Given the description of an element on the screen output the (x, y) to click on. 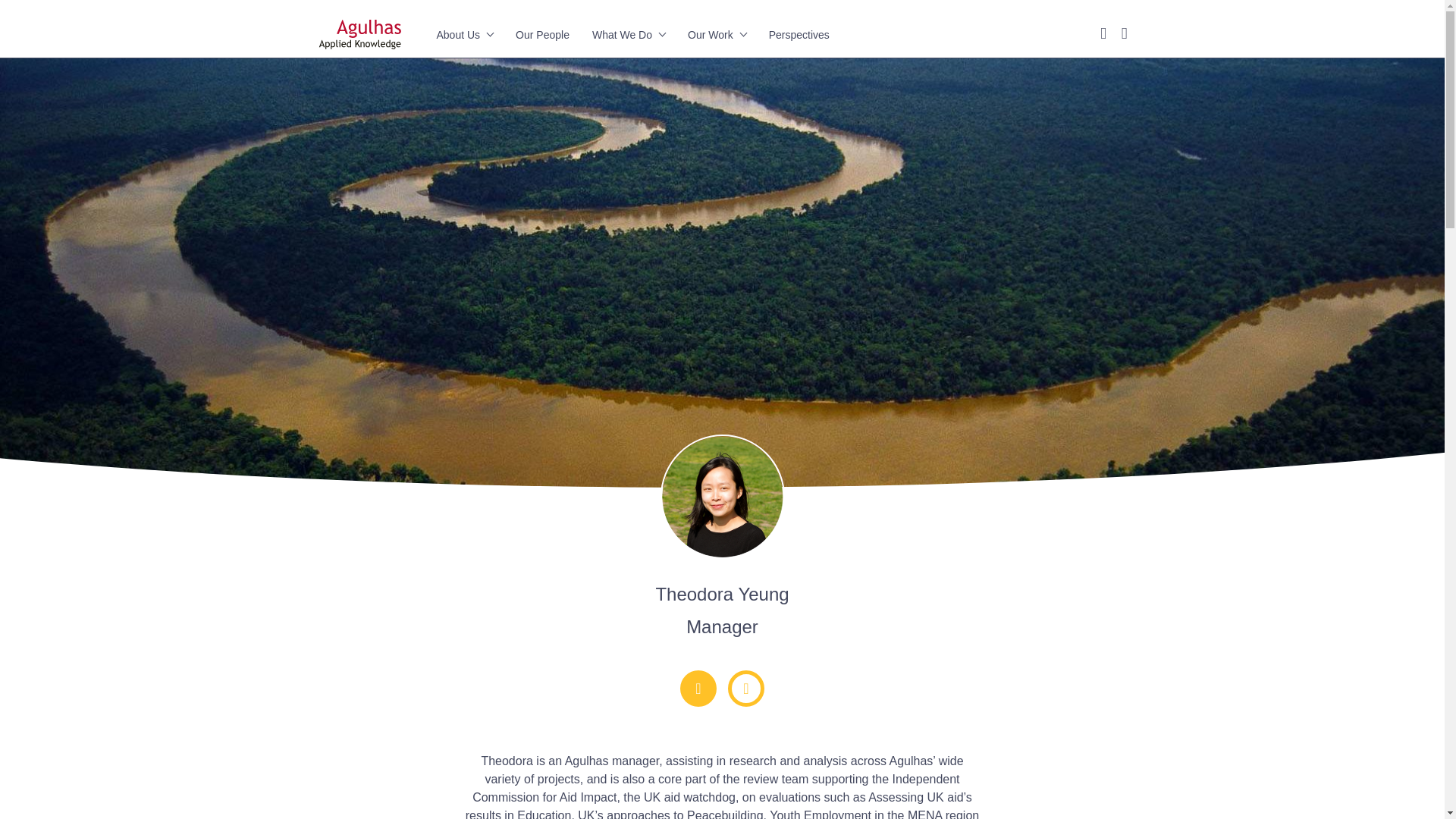
Our Work (716, 34)
Perspectives (798, 34)
About Us (464, 34)
What We Do (628, 34)
Our People (542, 34)
Agulhas (359, 34)
